Given the description of an element on the screen output the (x, y) to click on. 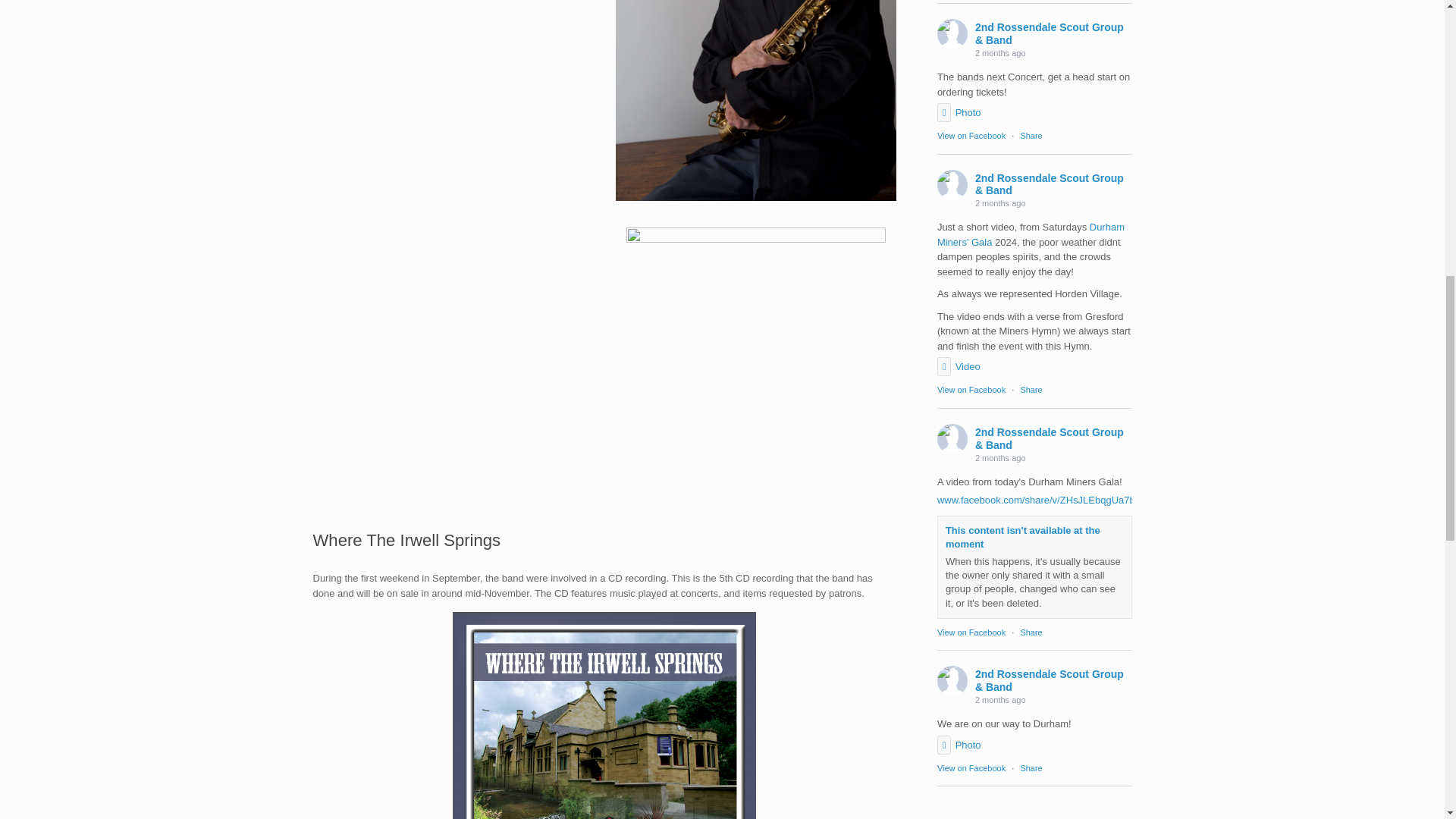
Share (1031, 135)
Photo (959, 112)
View on Facebook (971, 135)
Share (1031, 135)
Durham Miners' Gala (1030, 234)
View on Facebook (971, 135)
View on Facebook (971, 388)
